Given the description of an element on the screen output the (x, y) to click on. 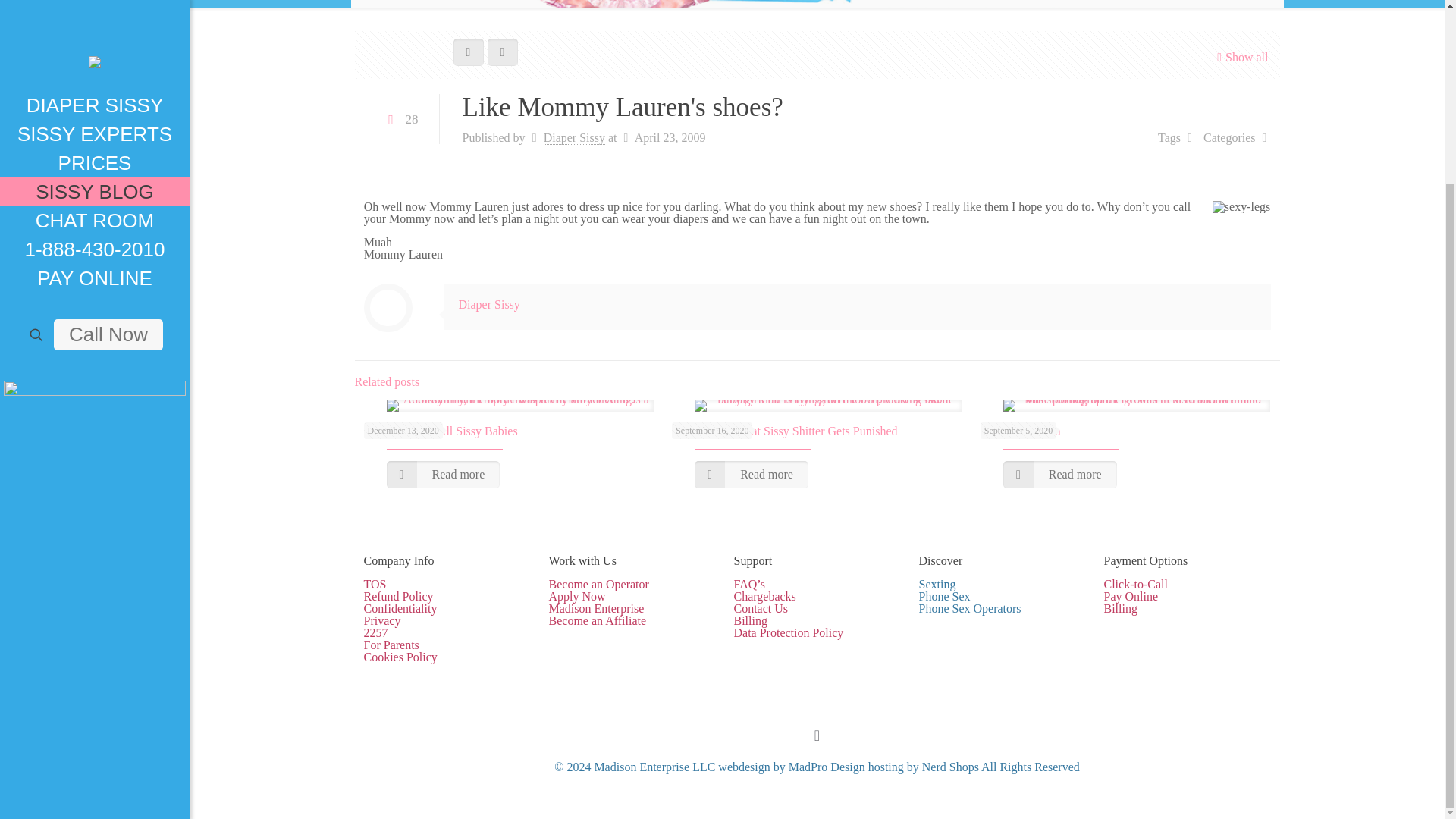
1-888-430-2010 (94, 22)
Diaper Sissy (574, 137)
A Reminder to All Sissy Babies (441, 431)
Show all (1240, 57)
PAY ONLINE (94, 51)
Diaper Sissy (488, 304)
CHAT ROOM (94, 4)
Call Now (108, 107)
28 (400, 119)
